Given the description of an element on the screen output the (x, y) to click on. 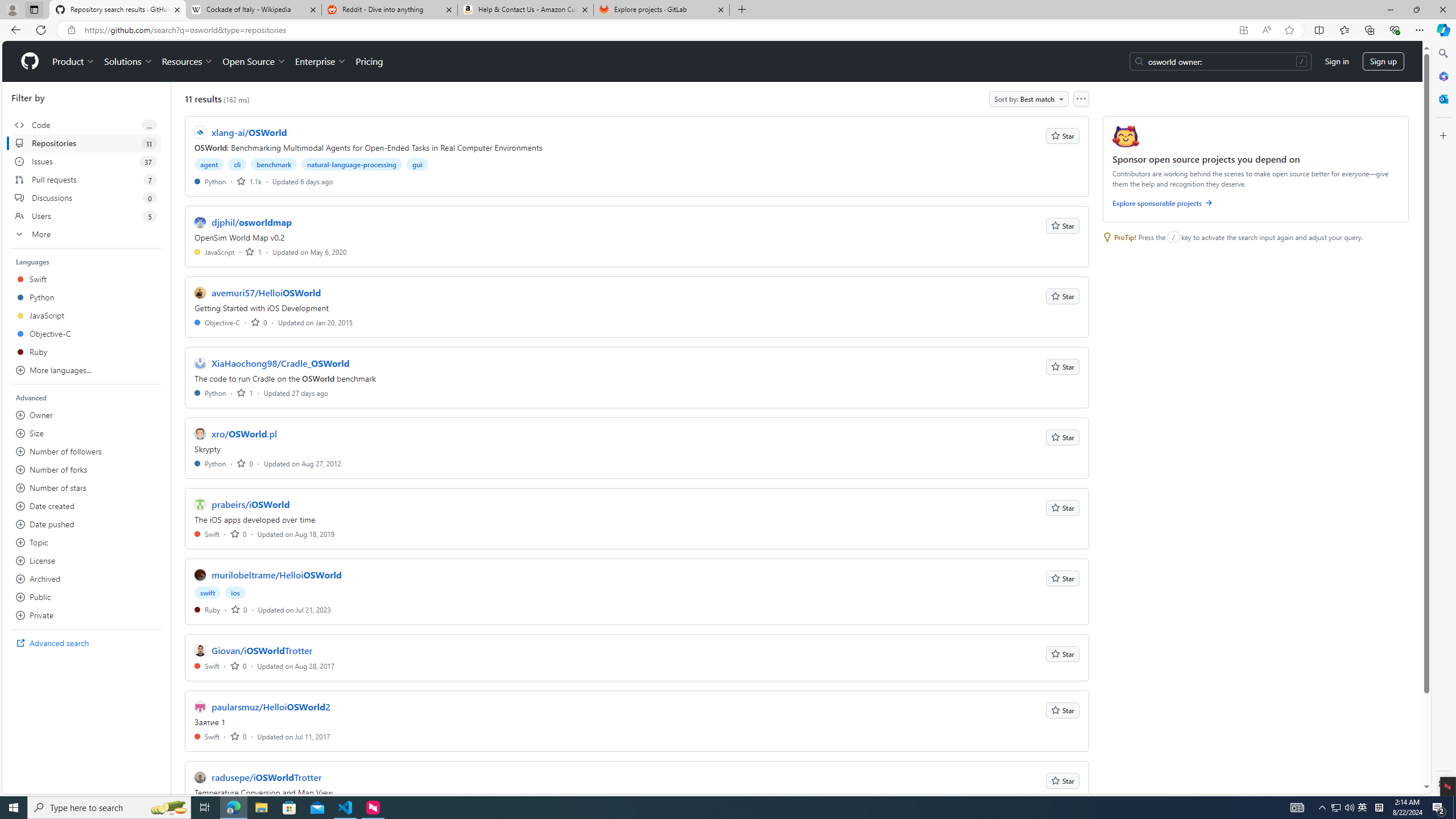
1.1k (248, 181)
Open Source (254, 60)
paularsmuz/HelloiOSWorld2 (270, 707)
cli (237, 164)
